Given the description of an element on the screen output the (x, y) to click on. 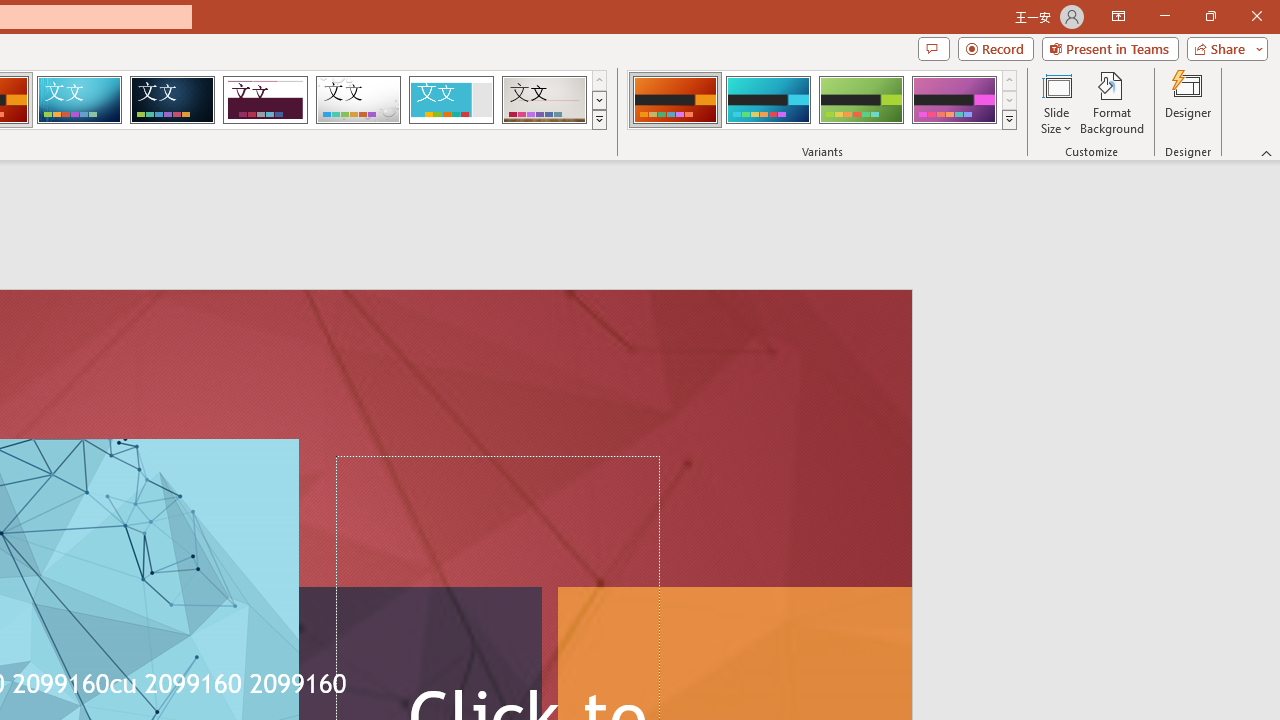
Damask (171, 100)
Berlin Variant 1 (674, 100)
Frame (450, 100)
Berlin Variant 2 (768, 100)
Berlin Variant 4 (953, 100)
Circuit (79, 100)
